Given the description of an element on the screen output the (x, y) to click on. 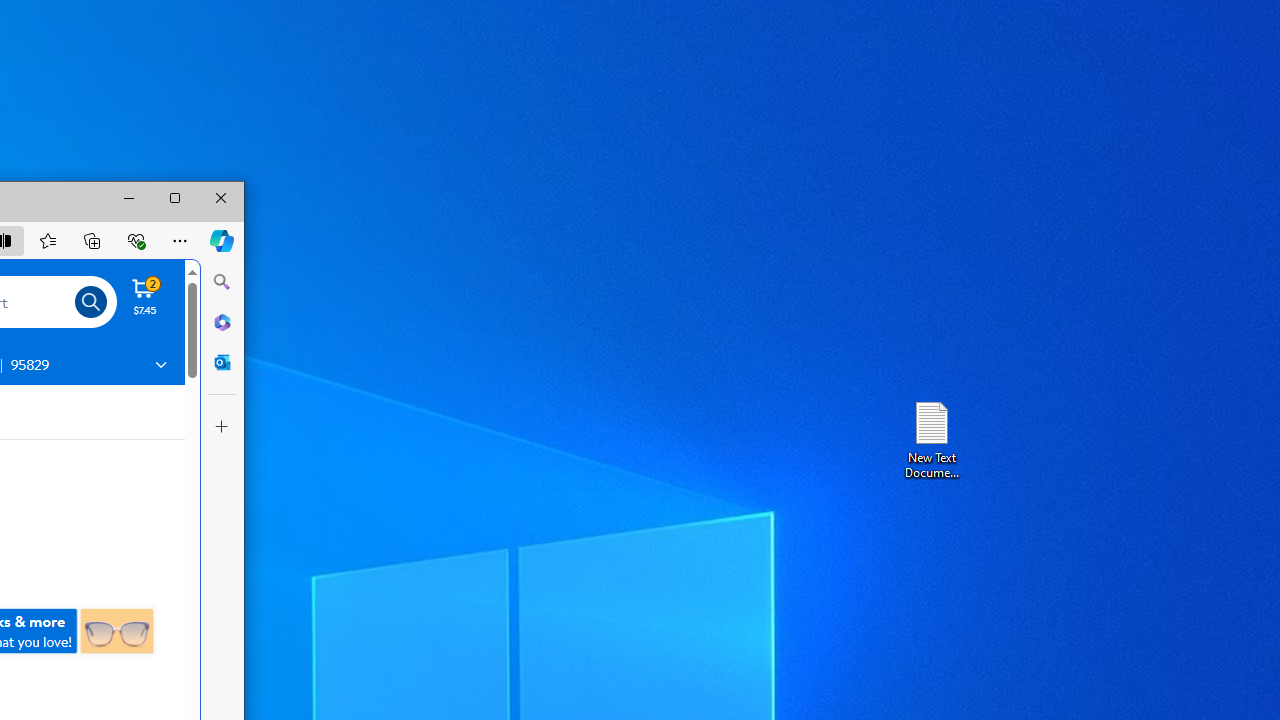
New Text Document (2) (931, 438)
Close Search pane (221, 282)
Cart contains 2 items Total Amount $7.45 (145, 295)
Maximize (175, 198)
Search icon (91, 301)
